Given the description of an element on the screen output the (x, y) to click on. 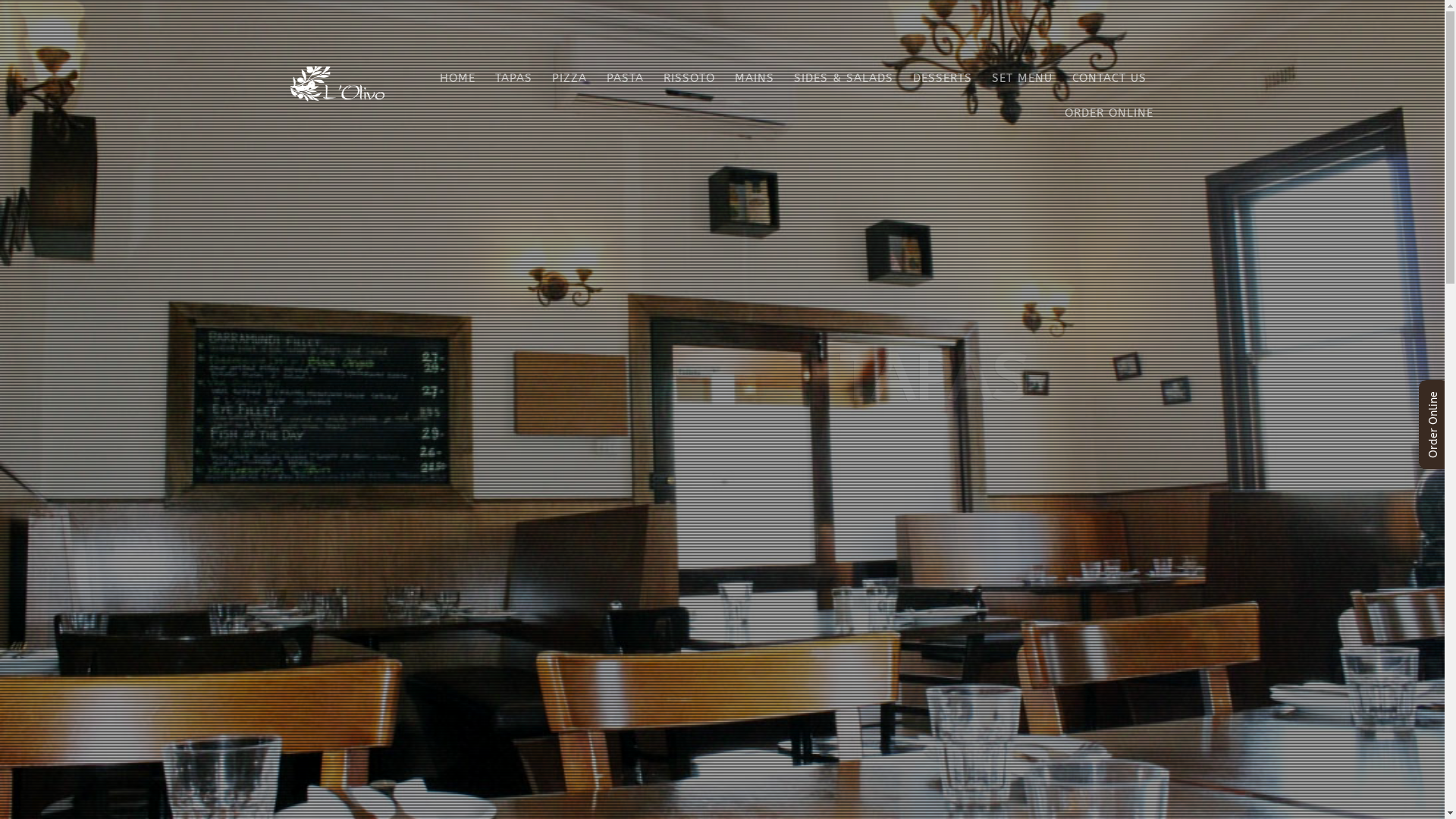
Lolivo Restaurant , Malvern East Restaurant Element type: text (336, 89)
RISSOTO Element type: text (689, 75)
MAINS Element type: text (754, 75)
ORDER ONLINE Element type: text (1104, 110)
CONTACT US Element type: text (1108, 75)
HOME Element type: text (456, 75)
SET MENU Element type: text (1021, 75)
TAPAS Element type: text (513, 75)
PIZZA Element type: text (568, 75)
DESSERTS Element type: text (941, 75)
SIDES & SALADS Element type: text (843, 75)
PASTA Element type: text (624, 75)
